Given the description of an element on the screen output the (x, y) to click on. 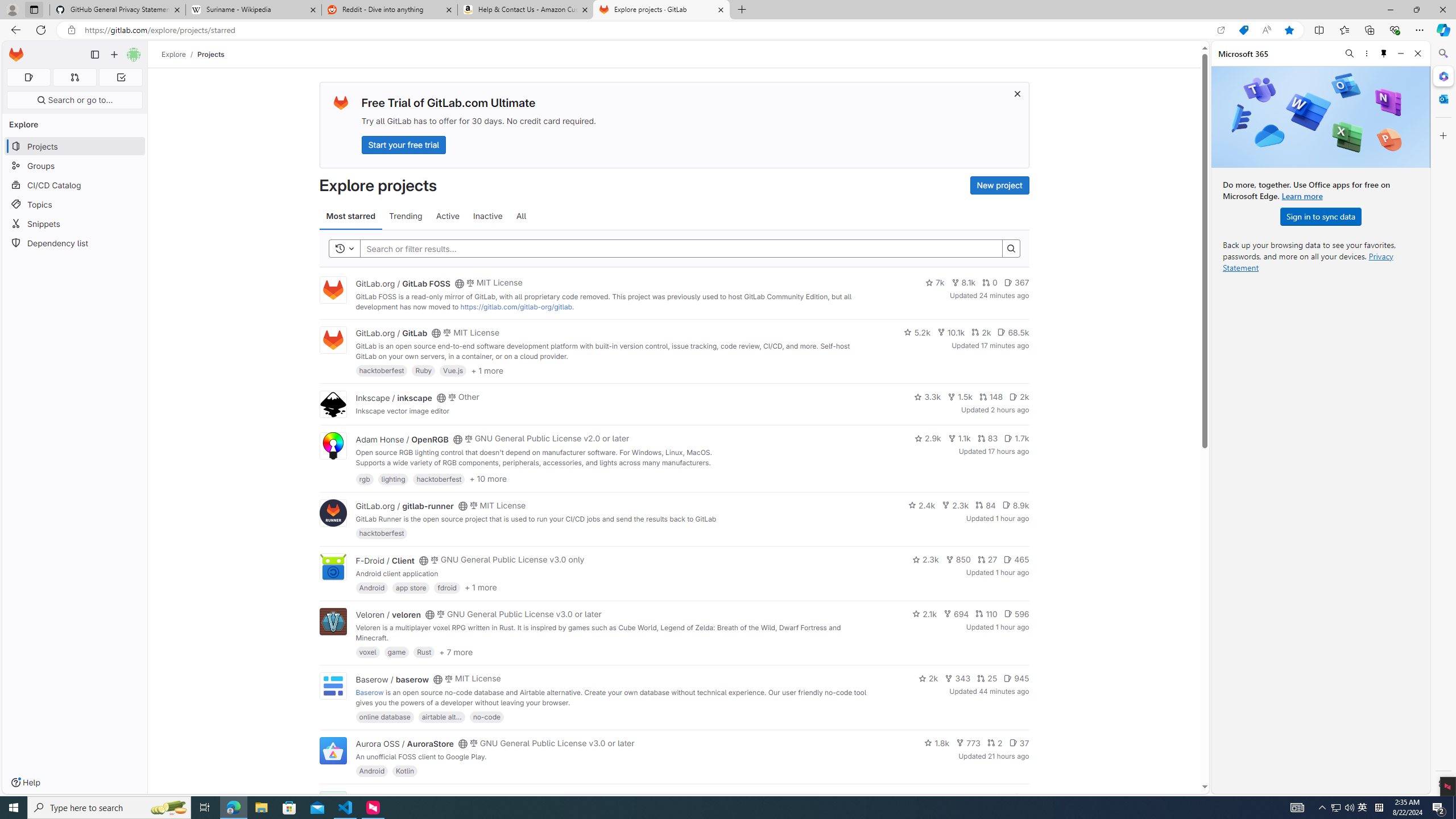
CI/CD Catalog (74, 185)
Rust (423, 651)
37 (1019, 742)
GitHub General Privacy Statement - GitHub Docs (117, 9)
Merge requests 0 (74, 76)
online database (384, 715)
Veloren / veloren (387, 614)
GitLab.org / GitLab FOSS (402, 283)
596 (1016, 613)
